Given the description of an element on the screen output the (x, y) to click on. 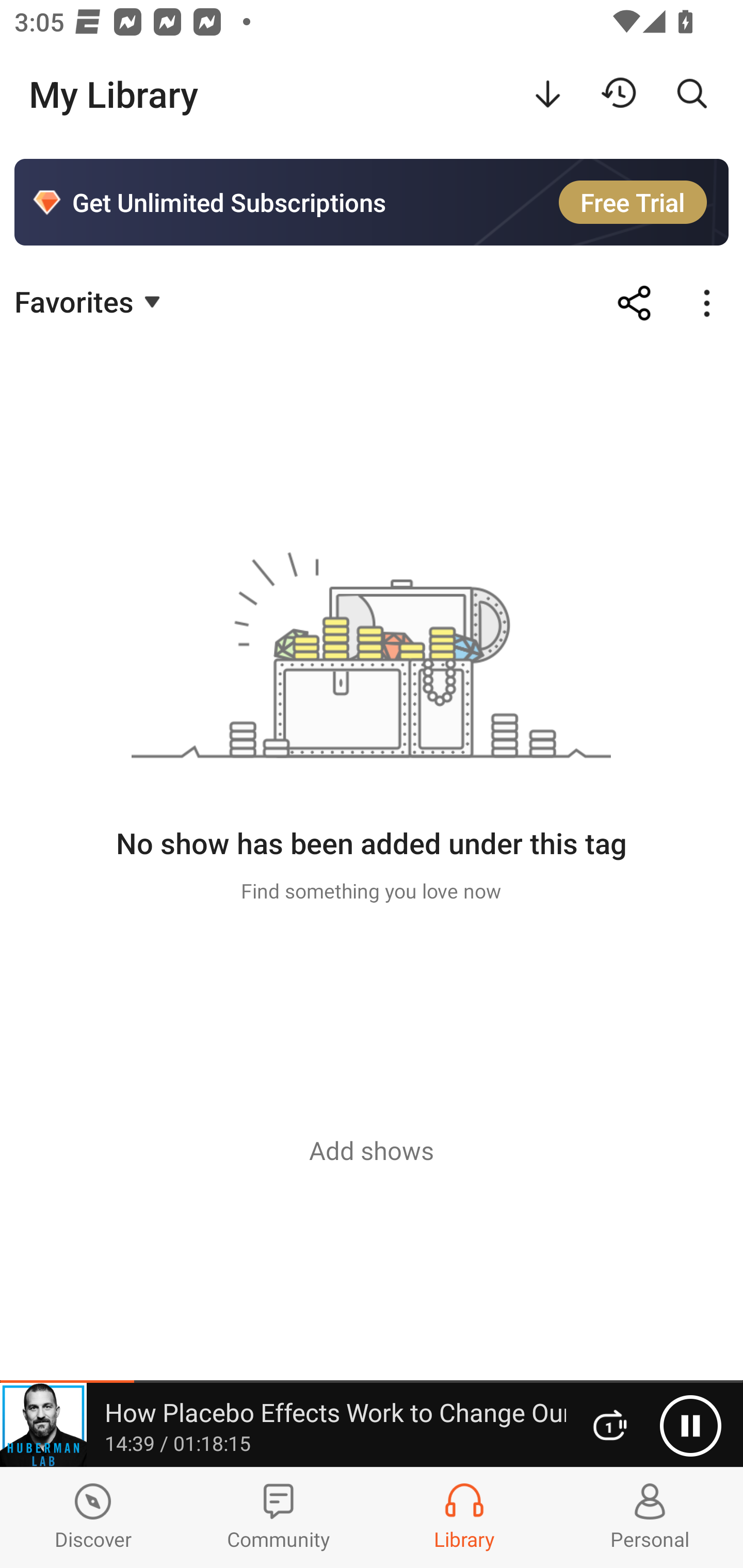
Get Unlimited Subscriptions Free Trial (371, 202)
Free Trial (632, 202)
Favorites (90, 300)
Add shows (371, 1150)
Pause (690, 1425)
Discover (92, 1517)
Community (278, 1517)
Library (464, 1517)
Profiles and Settings Personal (650, 1517)
